Given the description of an element on the screen output the (x, y) to click on. 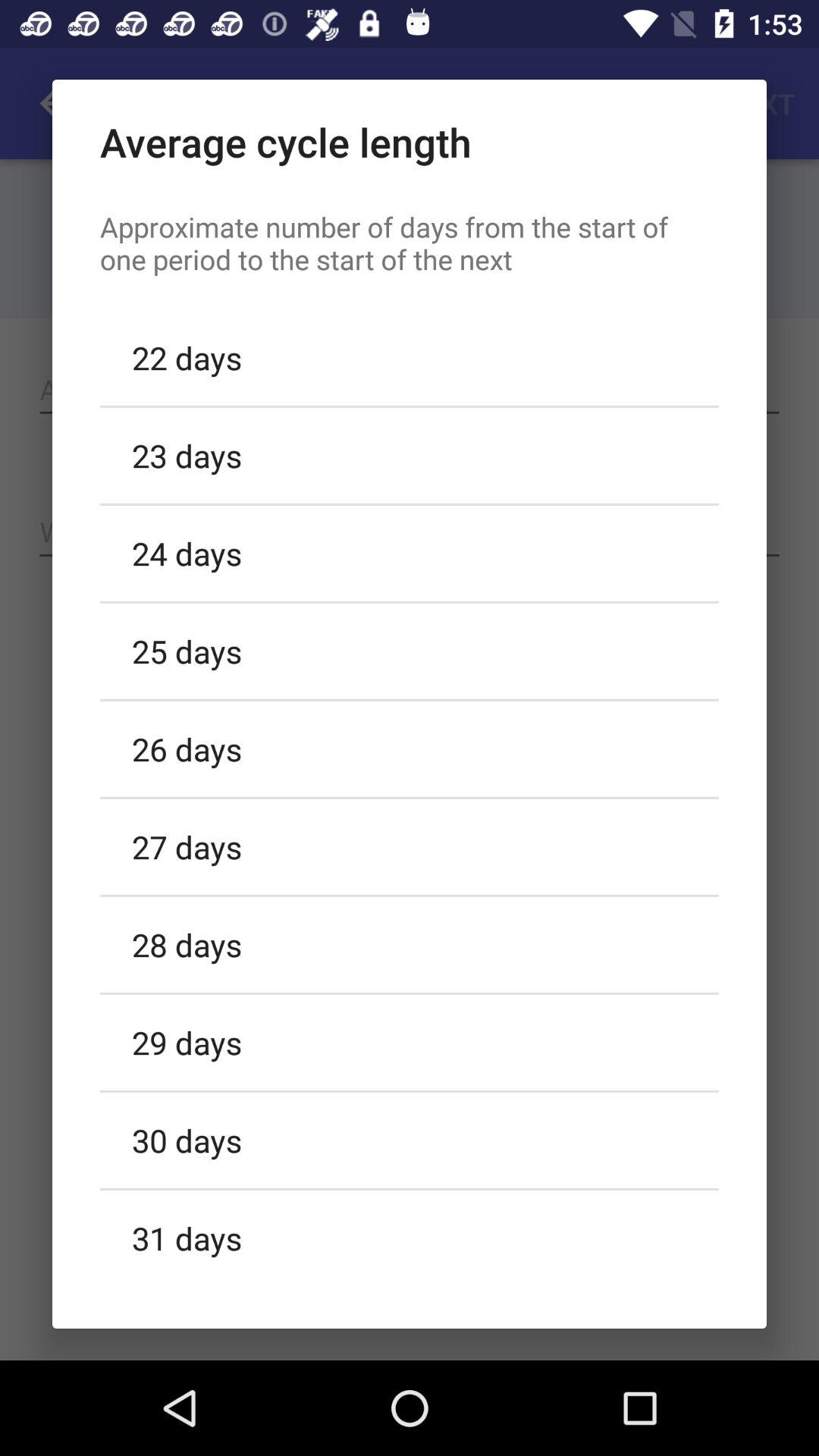
tap the 22 days item (409, 357)
